Given the description of an element on the screen output the (x, y) to click on. 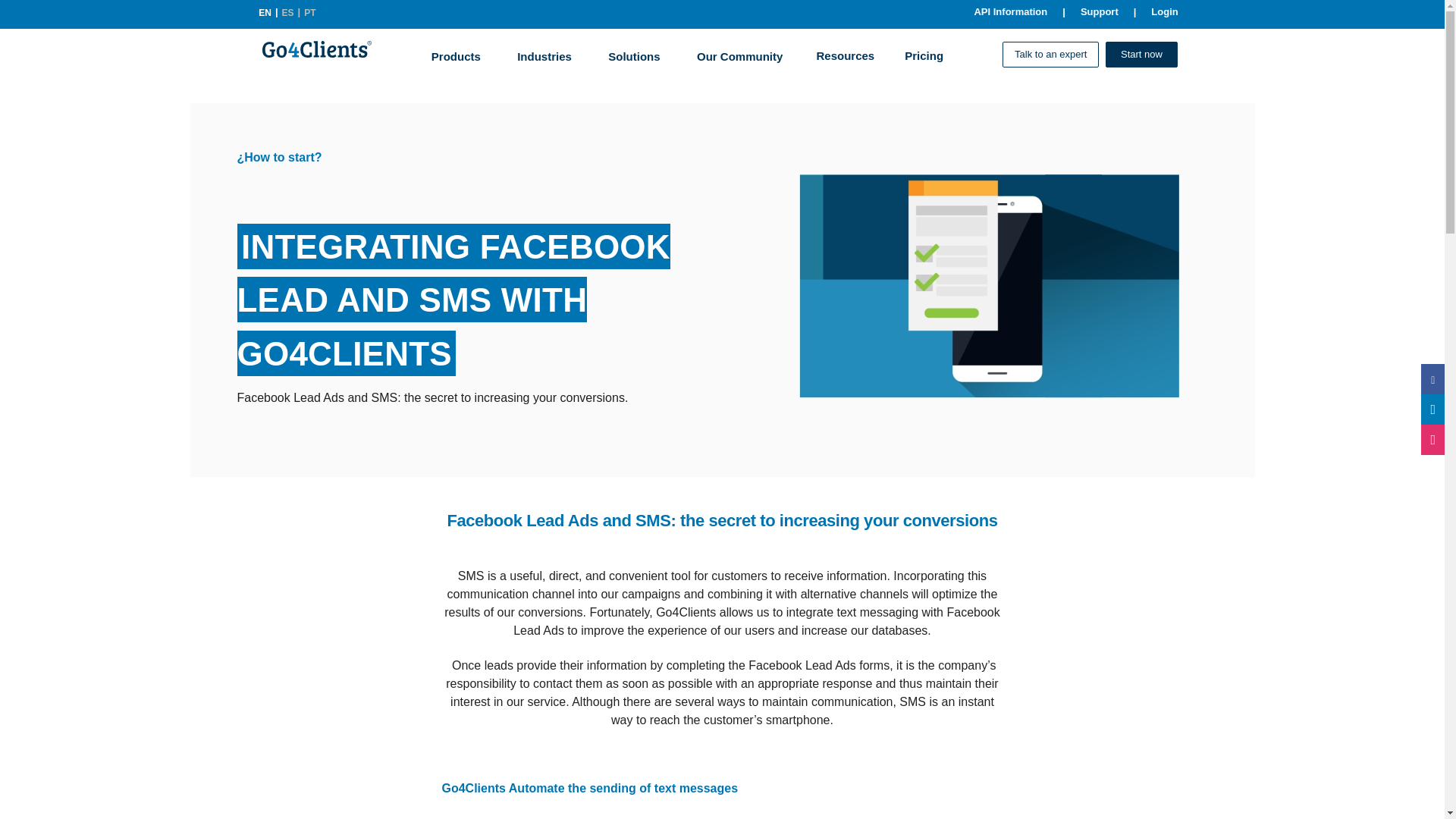
Products (456, 54)
Solutions (633, 54)
Industries (544, 54)
API Information (1010, 12)
Login (1163, 12)
Support (1099, 12)
